Given the description of an element on the screen output the (x, y) to click on. 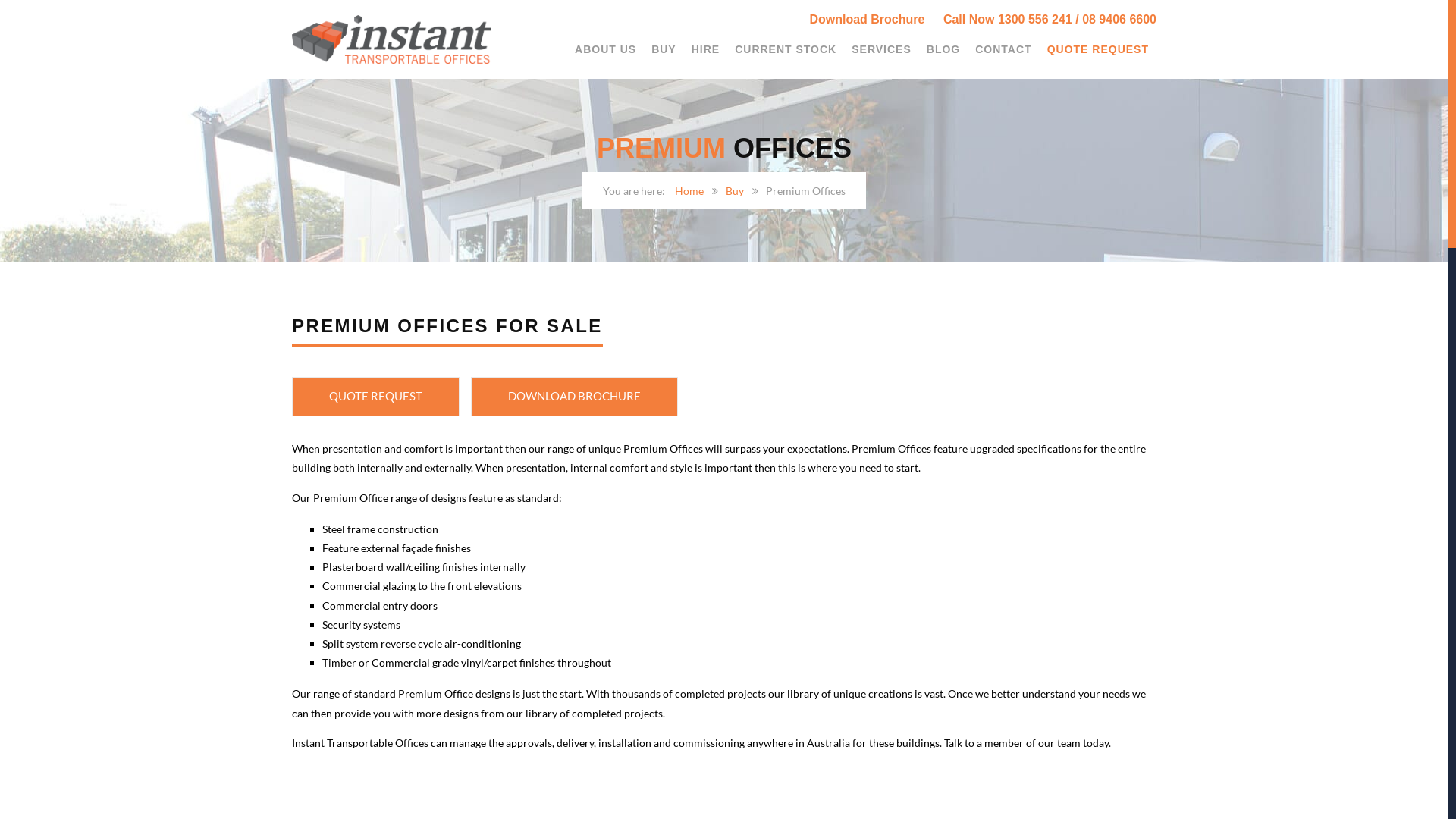
HIRE Element type: text (705, 49)
CONTACT Element type: text (1002, 49)
Download Brochure Element type: text (874, 18)
CURRENT STOCK Element type: text (785, 49)
QUOTE REQUEST Element type: text (375, 396)
ABOUT US Element type: text (605, 49)
DOWNLOAD BROCHURE Element type: text (573, 396)
BLOG Element type: text (943, 49)
/ 08 9406 6600 Element type: text (1115, 18)
SERVICES Element type: text (881, 49)
QUOTE REQUEST Element type: text (1097, 49)
Home Element type: text (688, 190)
Call Now 1300 556 241 Element type: text (1007, 18)
Buy Element type: text (734, 190)
BUY Element type: text (663, 49)
